Given the description of an element on the screen output the (x, y) to click on. 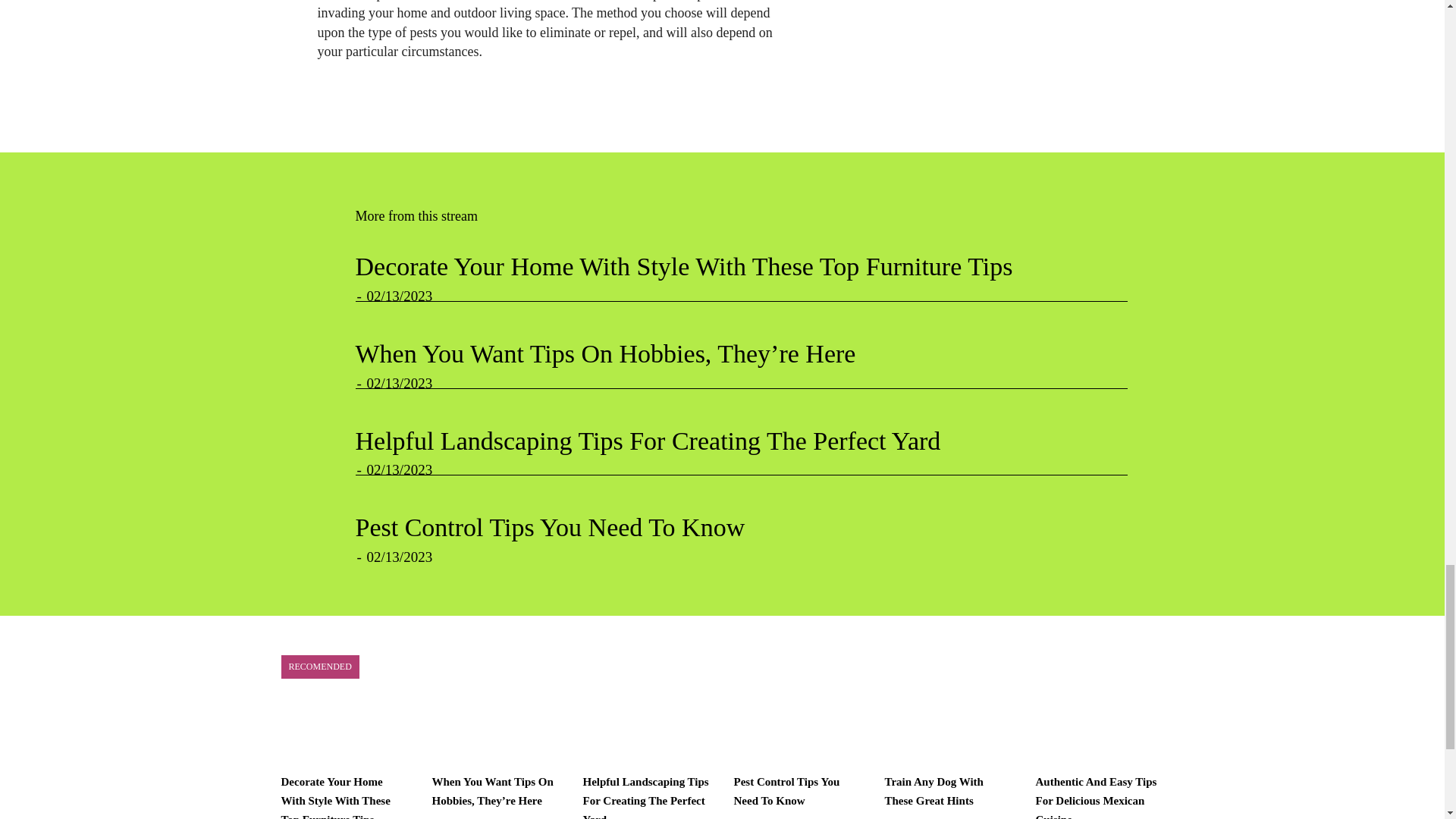
Helpful Landscaping Tips For Creating The Perfect Yard (647, 440)
Decorate Your Home With Style With These Top Furniture Tips (683, 266)
Pest Control Tips You Need To Know (549, 527)
Helpful Landscaping Tips For Creating The Perfect Yard (647, 440)
Decorate Your Home With Style With These Top Furniture Tips (683, 266)
Decorate Your Home With Style With These Top Furniture Tips (335, 797)
